Given the description of an element on the screen output the (x, y) to click on. 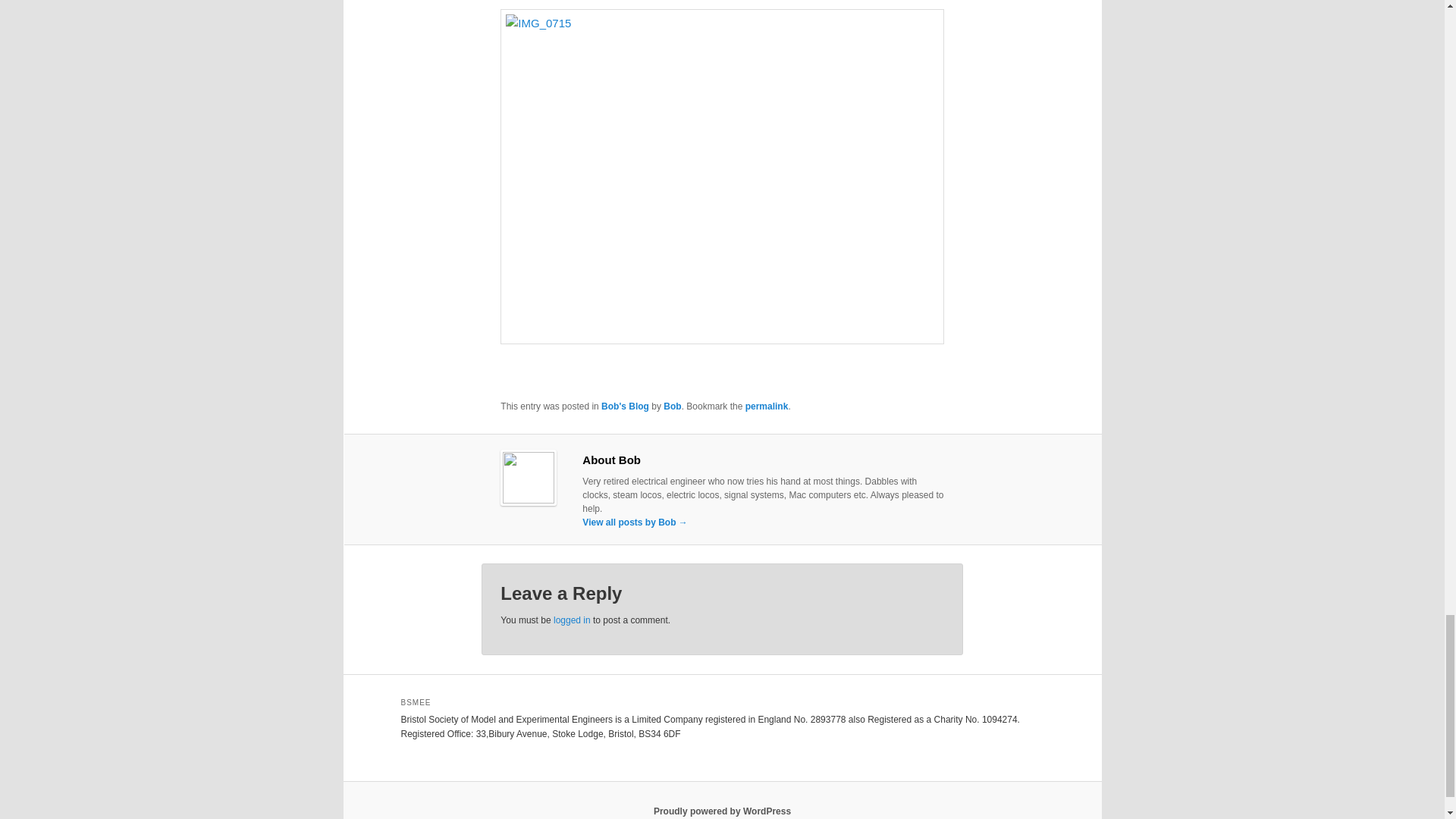
Semantic Personal Publishing Platform (721, 810)
